Given the description of an element on the screen output the (x, y) to click on. 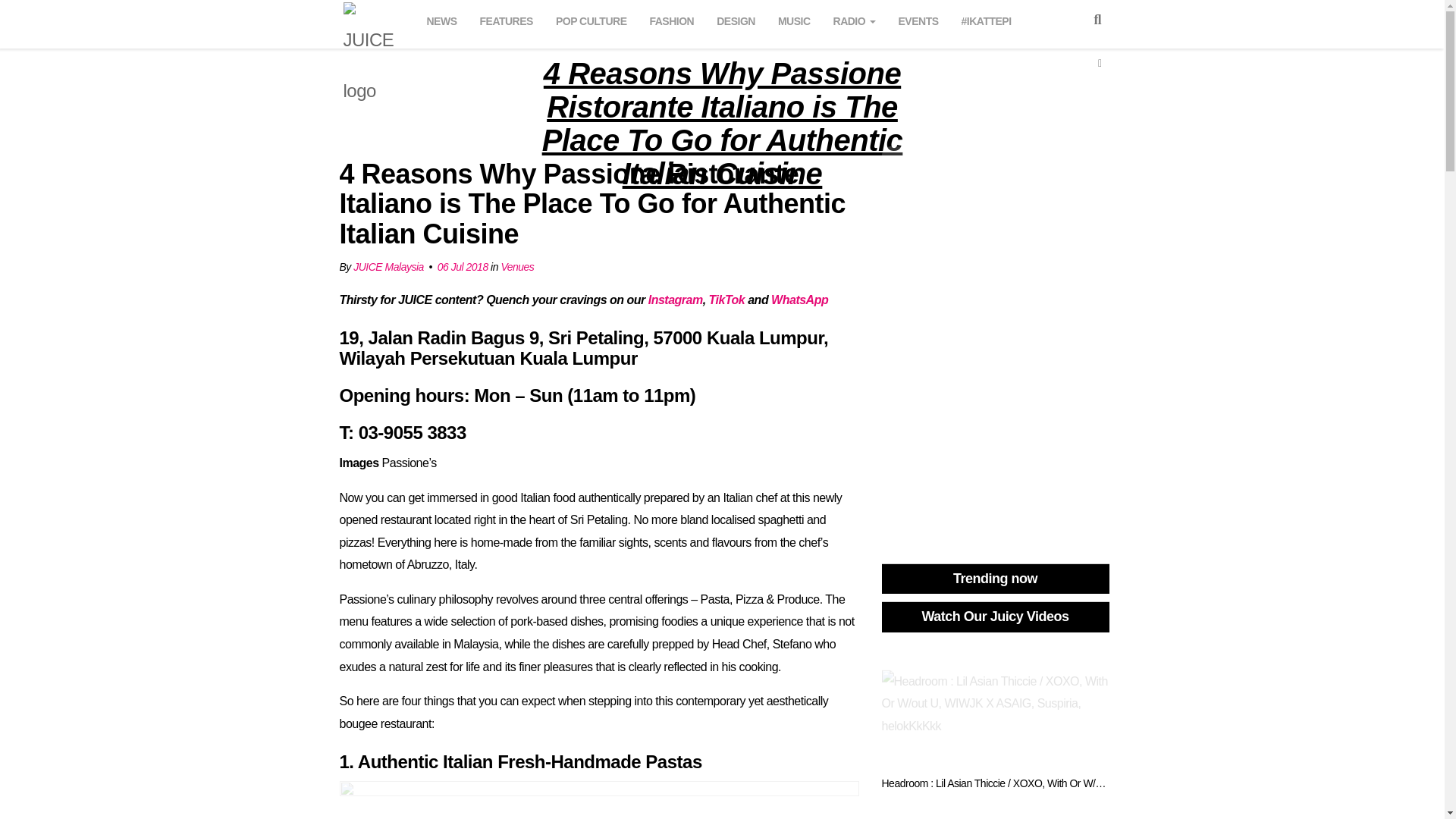
FASHION (671, 19)
MUSIC (794, 19)
EVENTS (918, 19)
DESIGN (735, 19)
RADIO (854, 19)
Fashion (671, 19)
Radio (854, 19)
Music (794, 19)
POP CULTURE (591, 19)
Events (918, 19)
